Given the description of an element on the screen output the (x, y) to click on. 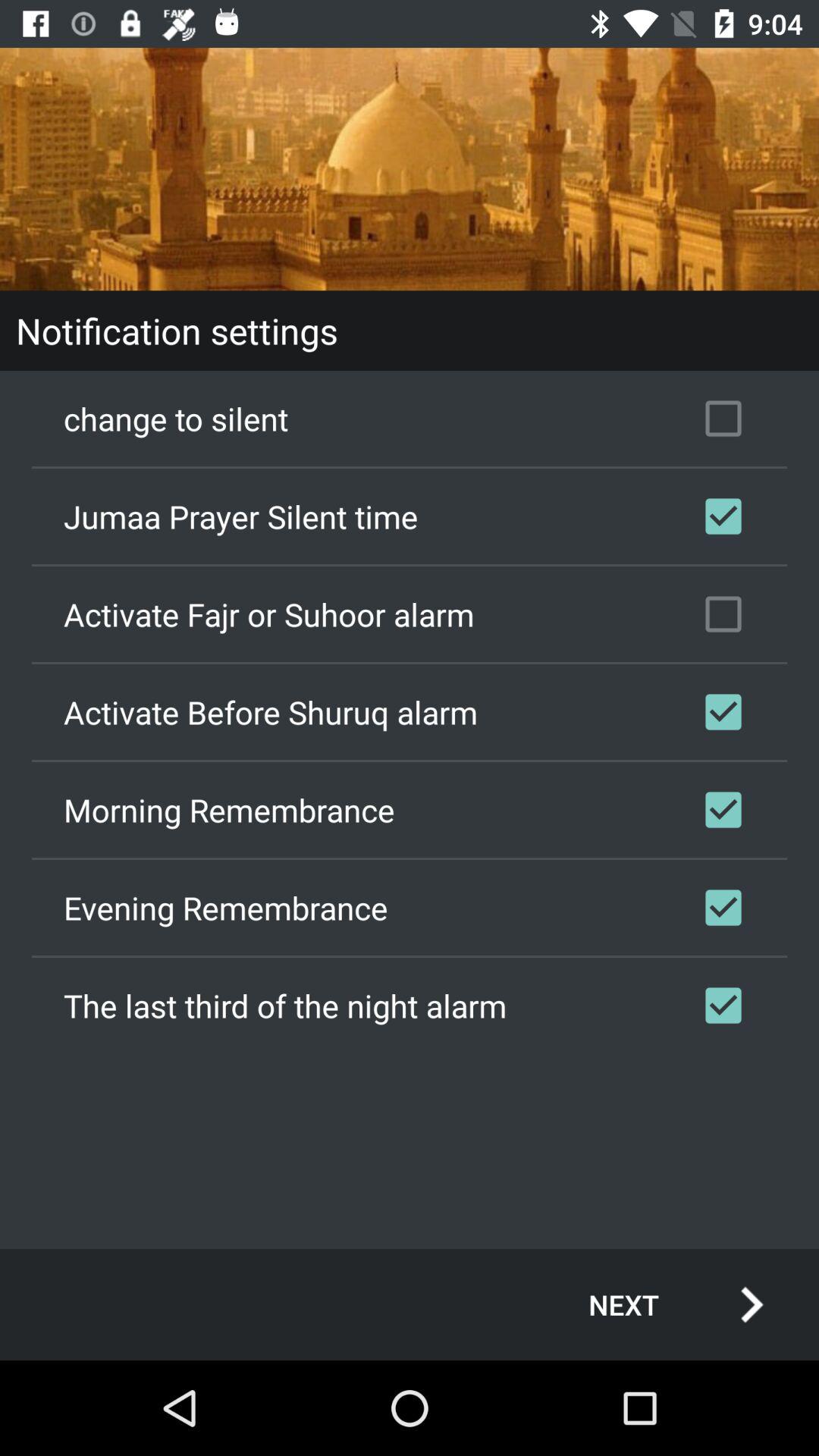
scroll until the the last third (409, 1005)
